Given the description of an element on the screen output the (x, y) to click on. 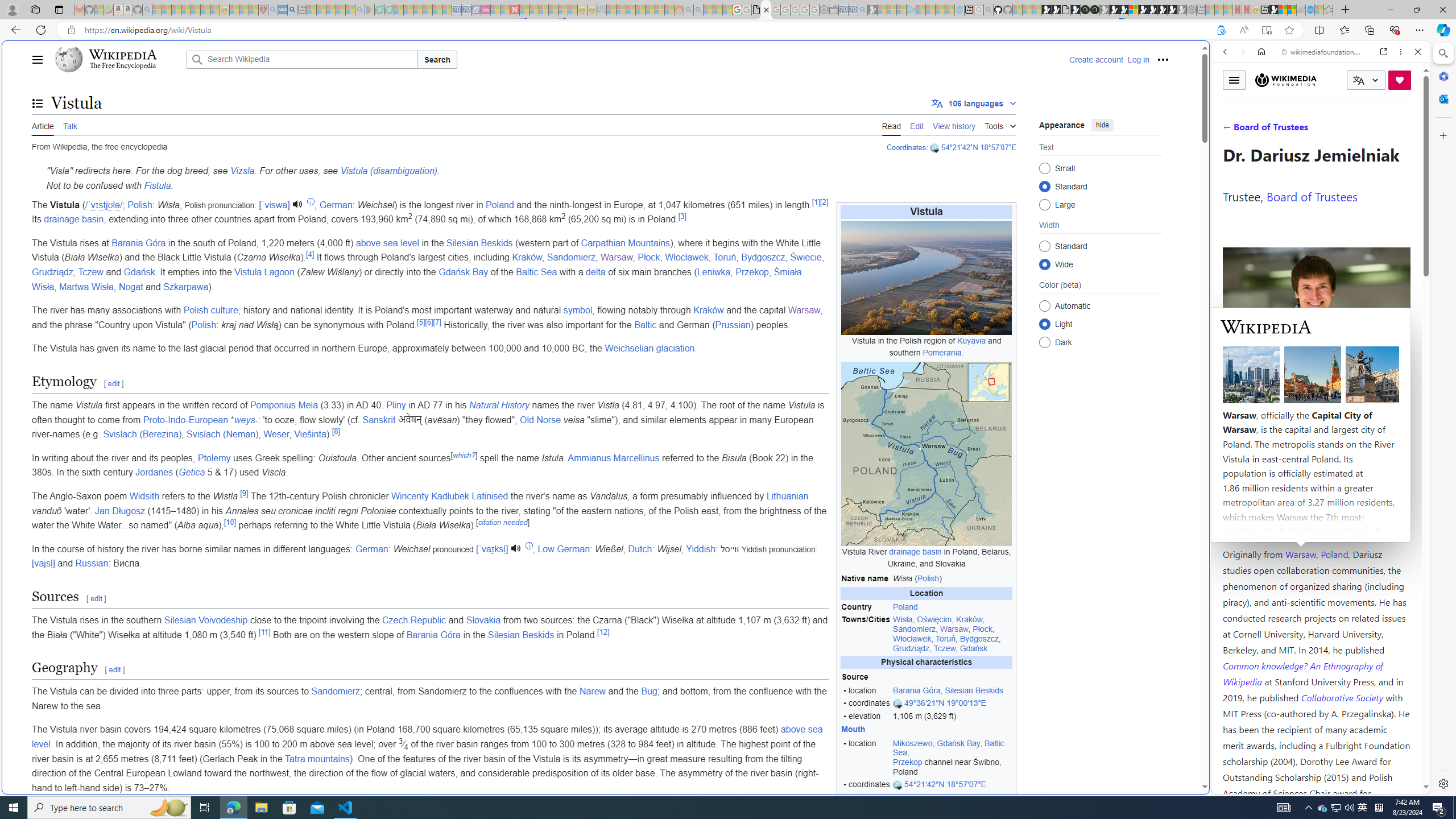
This site scope (1259, 102)
Wikipedia The Free Encyclopedia (117, 59)
Standard (1044, 245)
Polish (203, 324)
Actions for this site (1370, 583)
CURRENT LANGUAGE: (1366, 80)
Jordanes (154, 472)
Bluey: Let's Play! - Apps on Google Play - Sleeping (369, 9)
